Given the description of an element on the screen output the (x, y) to click on. 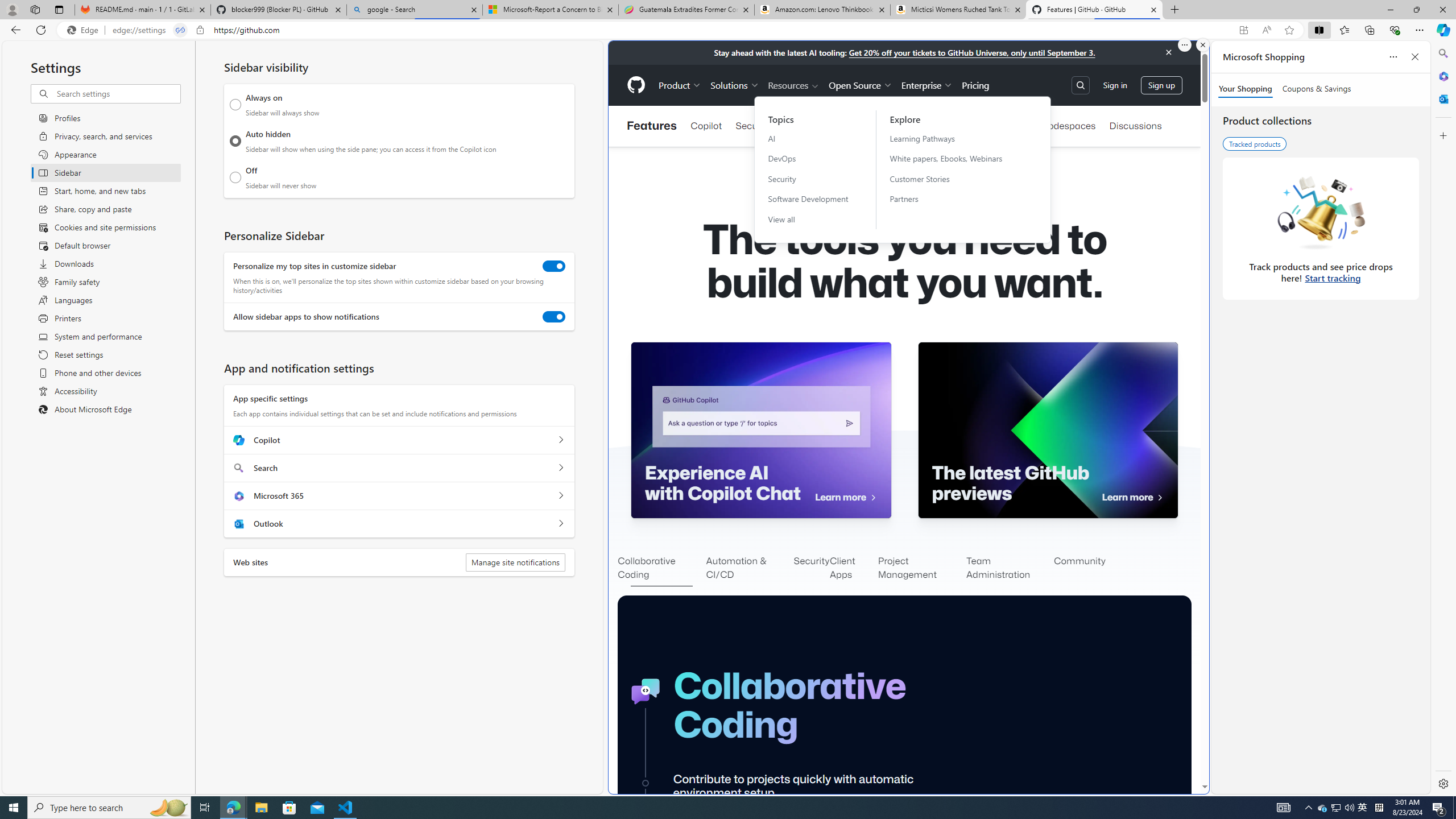
AI (807, 138)
Copilot (560, 439)
Customer Stories (952, 178)
Software Development (807, 199)
AI (807, 138)
Open Source (860, 84)
Off Sidebar will never show (235, 177)
Learning Pathways (952, 138)
Close split screen. (1202, 45)
